Given the description of an element on the screen output the (x, y) to click on. 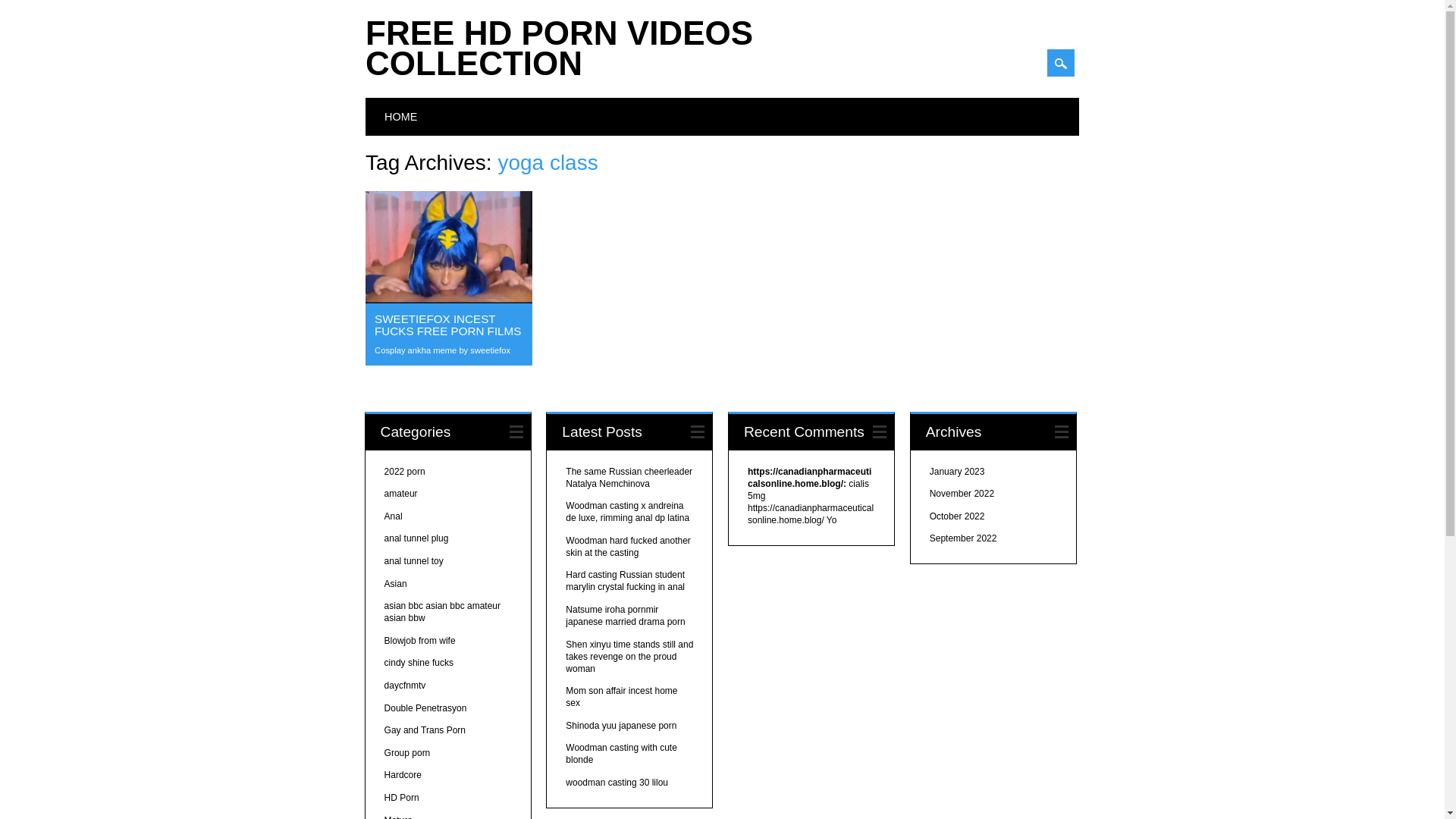
free hardcore porn video (403, 774)
FREE HD PORN VIDEOS COLLECTION (558, 47)
SWEETIEFOX INCEST FUCKS FREE PORN FILMS (447, 324)
anal tunnel toy (414, 561)
anal tunnel plug (416, 538)
Anal (393, 516)
sweetiefox incest fucks free porn films (448, 299)
free Asian   sex videes and xxx porn movies watch (395, 583)
Skip to content (401, 106)
Skip to content (401, 106)
2022 porn (404, 471)
Asian (395, 583)
Permalink to sweetiefox incest fucks free porn films (447, 324)
